Given the description of an element on the screen output the (x, y) to click on. 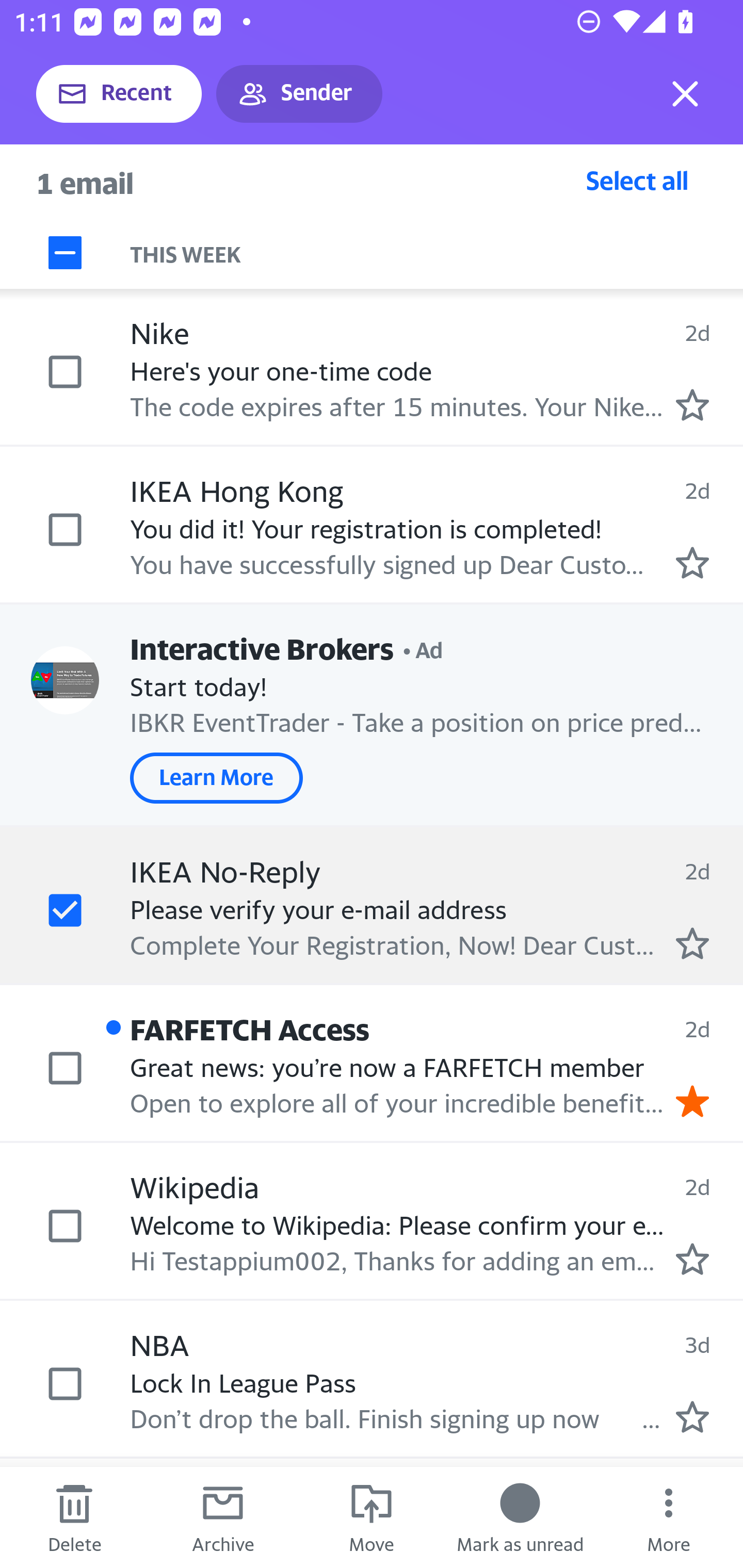
Sender (299, 93)
Exit selection mode (684, 93)
Select all (637, 180)
Mark as starred. (692, 405)
Mark as starred. (692, 562)
Mark as starred. (692, 943)
Remove star. (692, 1101)
Mark as starred. (692, 1258)
Mark as starred. (692, 1416)
Delete (74, 1517)
Archive (222, 1517)
Move (371, 1517)
Mark as unread (519, 1517)
More (668, 1517)
